Given the description of an element on the screen output the (x, y) to click on. 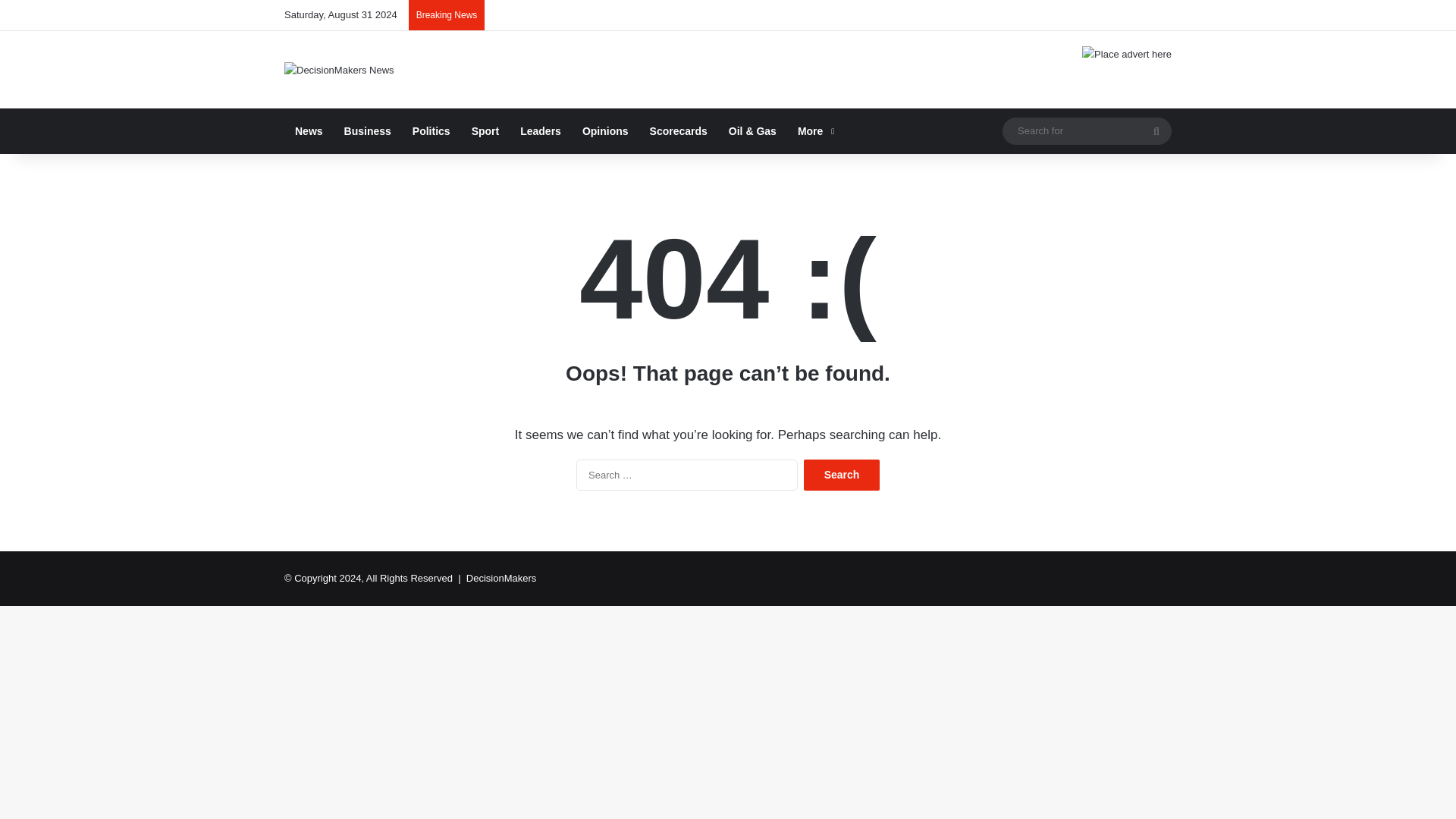
Search for (1156, 130)
Search (841, 474)
DecisionMakers (500, 577)
DecisionMakers News (338, 69)
Scorecards (678, 130)
Search for (1087, 130)
News (308, 130)
Business (367, 130)
Leaders (540, 130)
Search (841, 474)
